Given the description of an element on the screen output the (x, y) to click on. 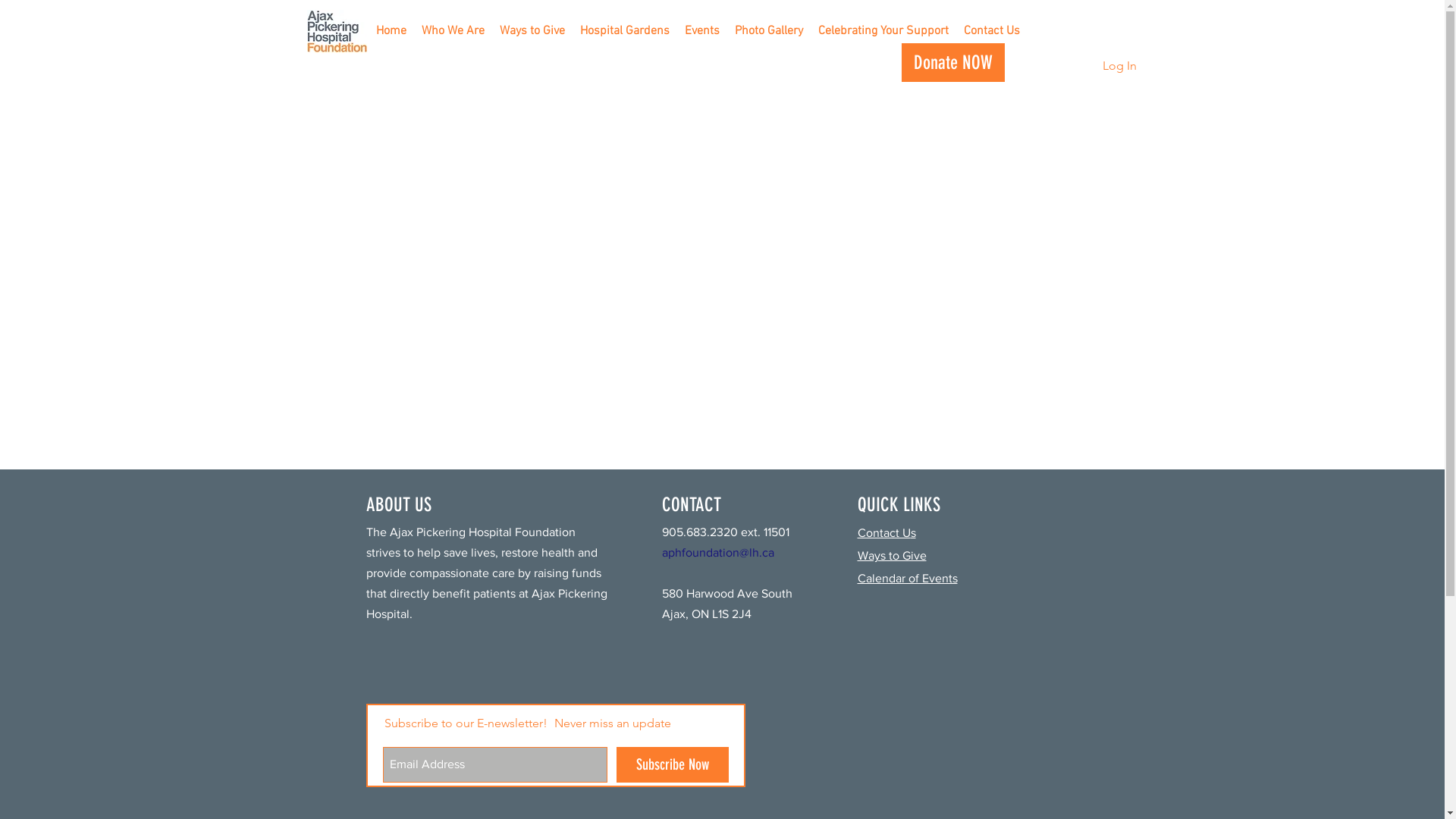
Home Element type: text (391, 31)
Log In Element type: text (1119, 65)
Contact Us Element type: text (990, 31)
Ways to Give Element type: text (890, 555)
Subscribe Now Element type: text (671, 764)
Calendar of Events Element type: text (906, 577)
Donate NOW Element type: text (952, 62)
aphfoundation@lh.ca Element type: text (717, 552)
Photo Gallery Element type: text (767, 31)
Contact Us Element type: text (885, 532)
